Given the description of an element on the screen output the (x, y) to click on. 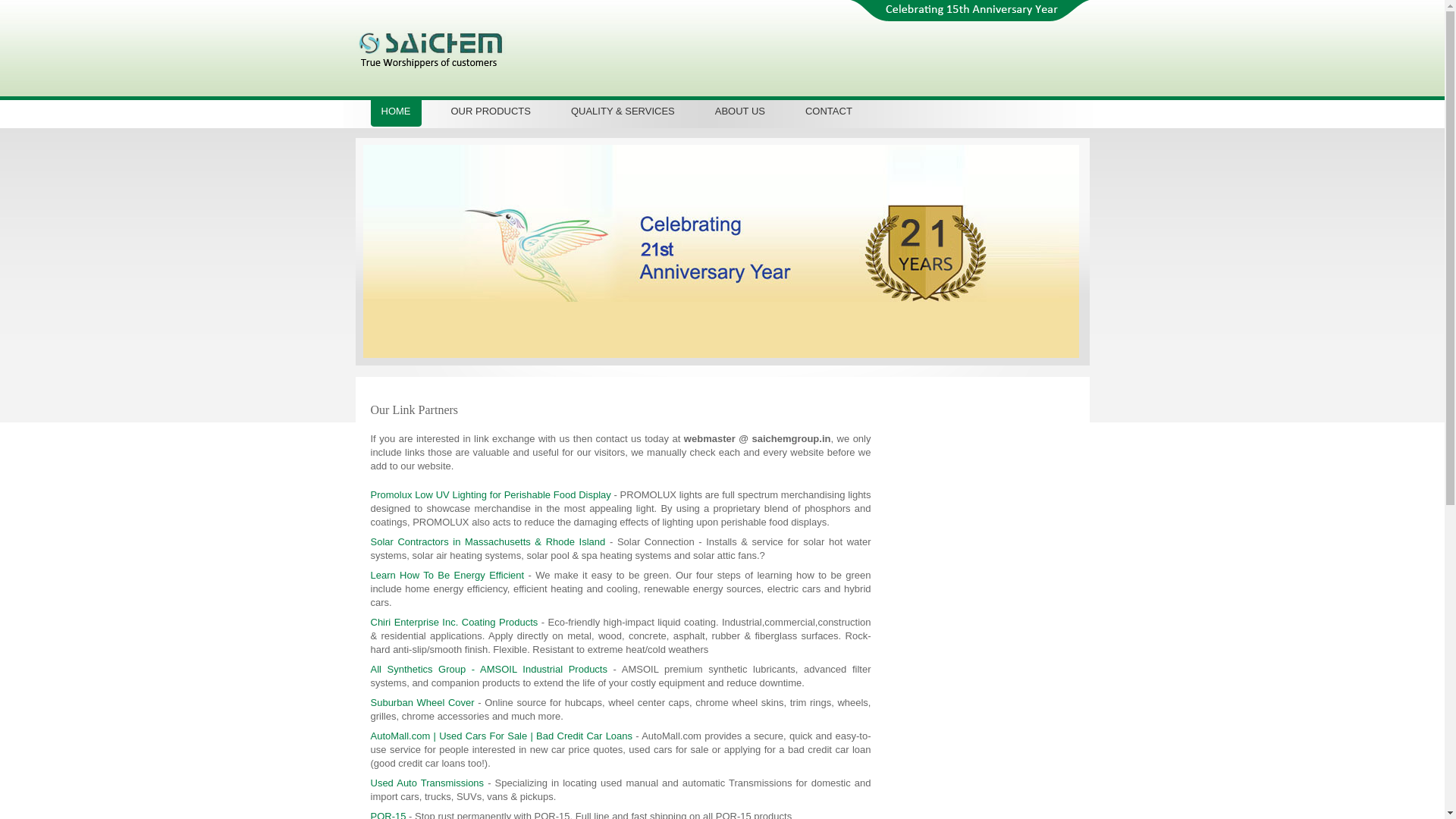
Learn How To Be Energy Efficient (446, 574)
HOME (394, 112)
OUR PRODUCTS (489, 112)
Promolux Low UV Lighting for Perishable Food Display (489, 494)
All Synthetics Group - AMSOIL Industrial Products (488, 668)
Chiri Enterprise Inc. Coating Products (453, 622)
ABOUT US (740, 112)
POR-15 (387, 814)
Used Auto Transmissions (426, 782)
Suburban Wheel Cover (421, 702)
